Given the description of an element on the screen output the (x, y) to click on. 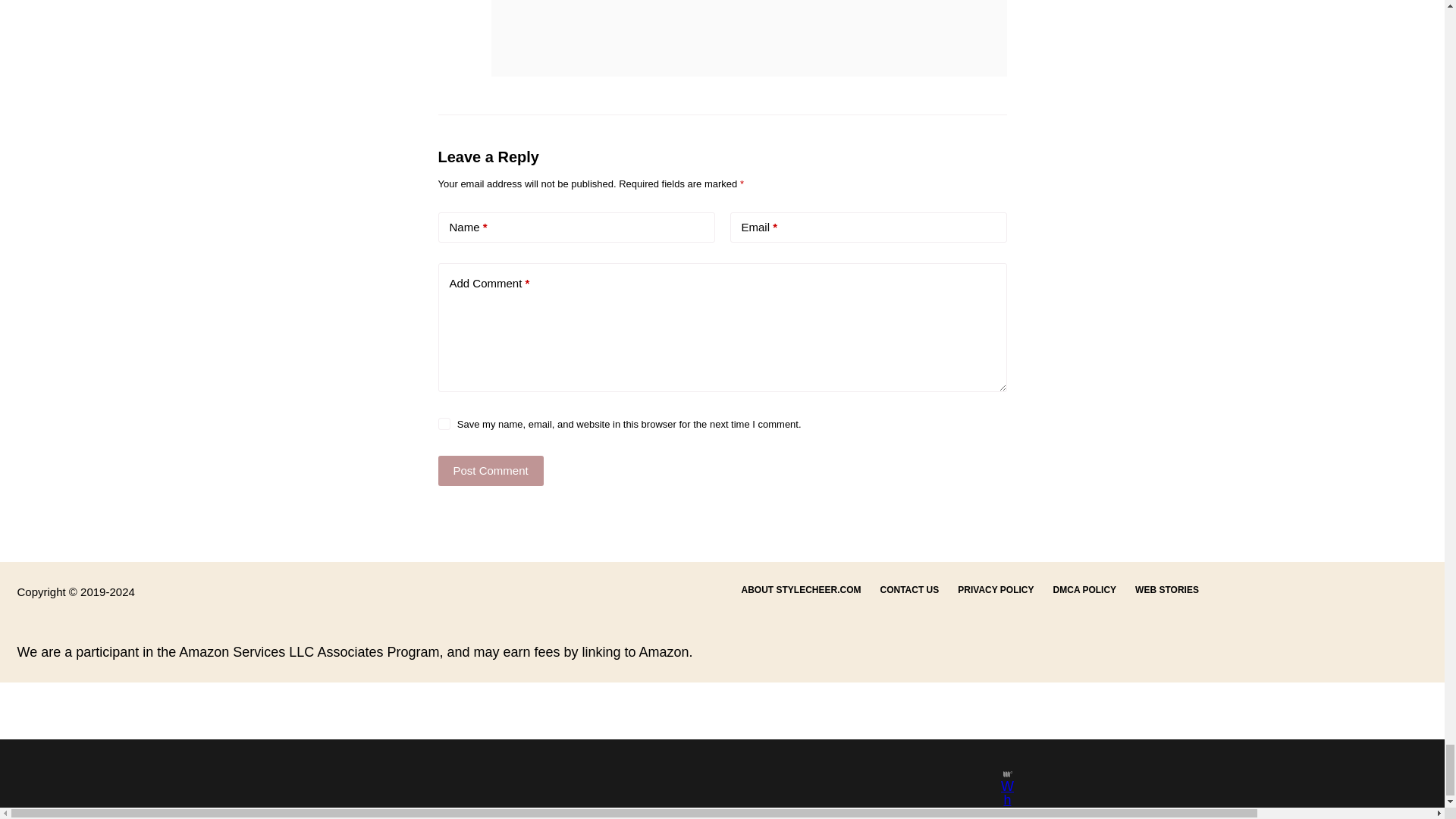
yes (443, 423)
